Given the description of an element on the screen output the (x, y) to click on. 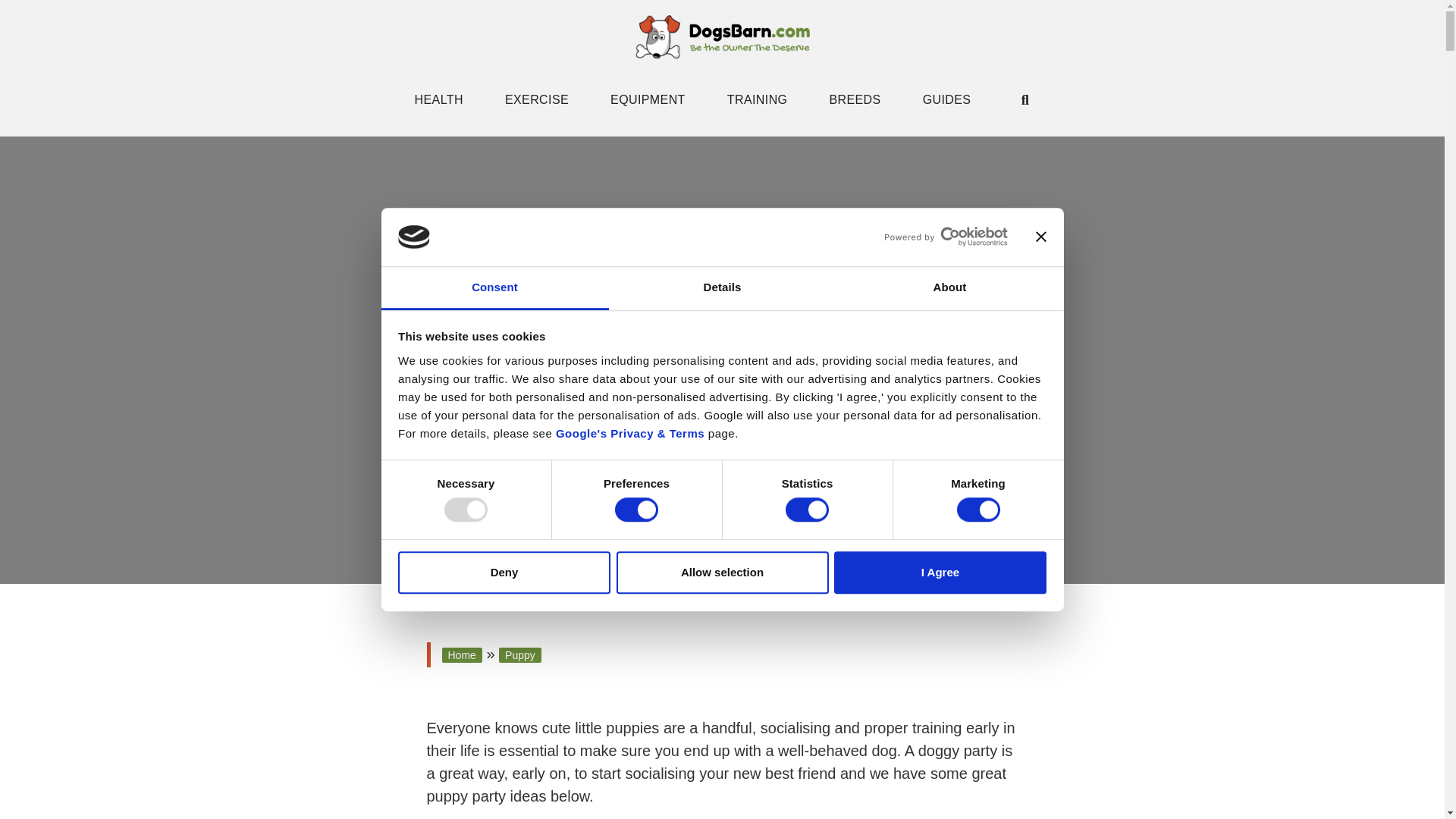
About (948, 288)
I Agree (940, 572)
Allow selection (721, 572)
Deny (503, 572)
Consent (494, 288)
HEALTH (438, 99)
Details (721, 288)
